Given the description of an element on the screen output the (x, y) to click on. 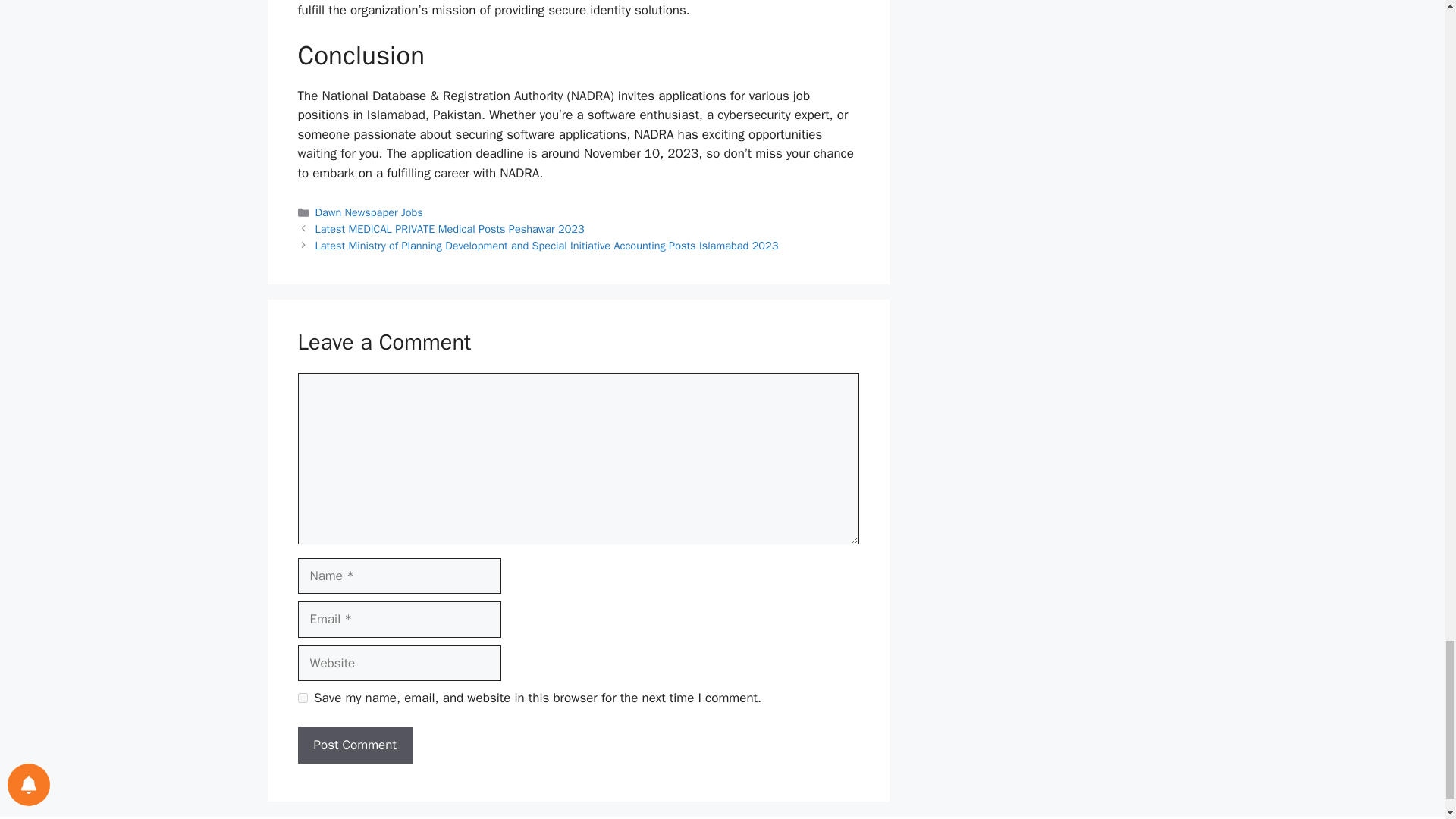
Latest MEDICAL PRIVATE Medical Posts Peshawar 2023 (450, 228)
Post Comment (354, 745)
yes (302, 697)
Post Comment (354, 745)
Dawn Newspaper Jobs (369, 212)
